Given the description of an element on the screen output the (x, y) to click on. 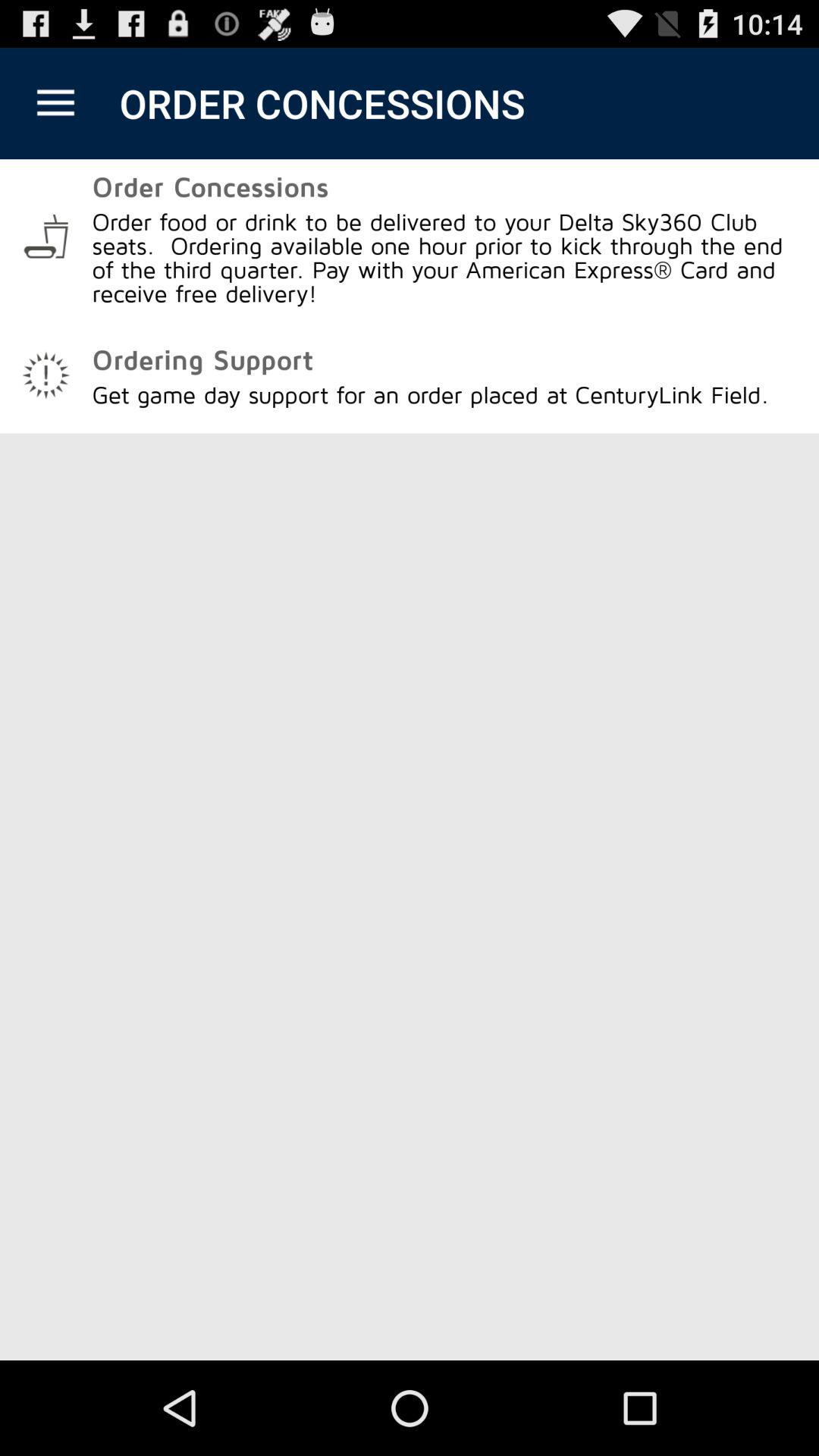
launch the item above the order concessions icon (55, 103)
